Given the description of an element on the screen output the (x, y) to click on. 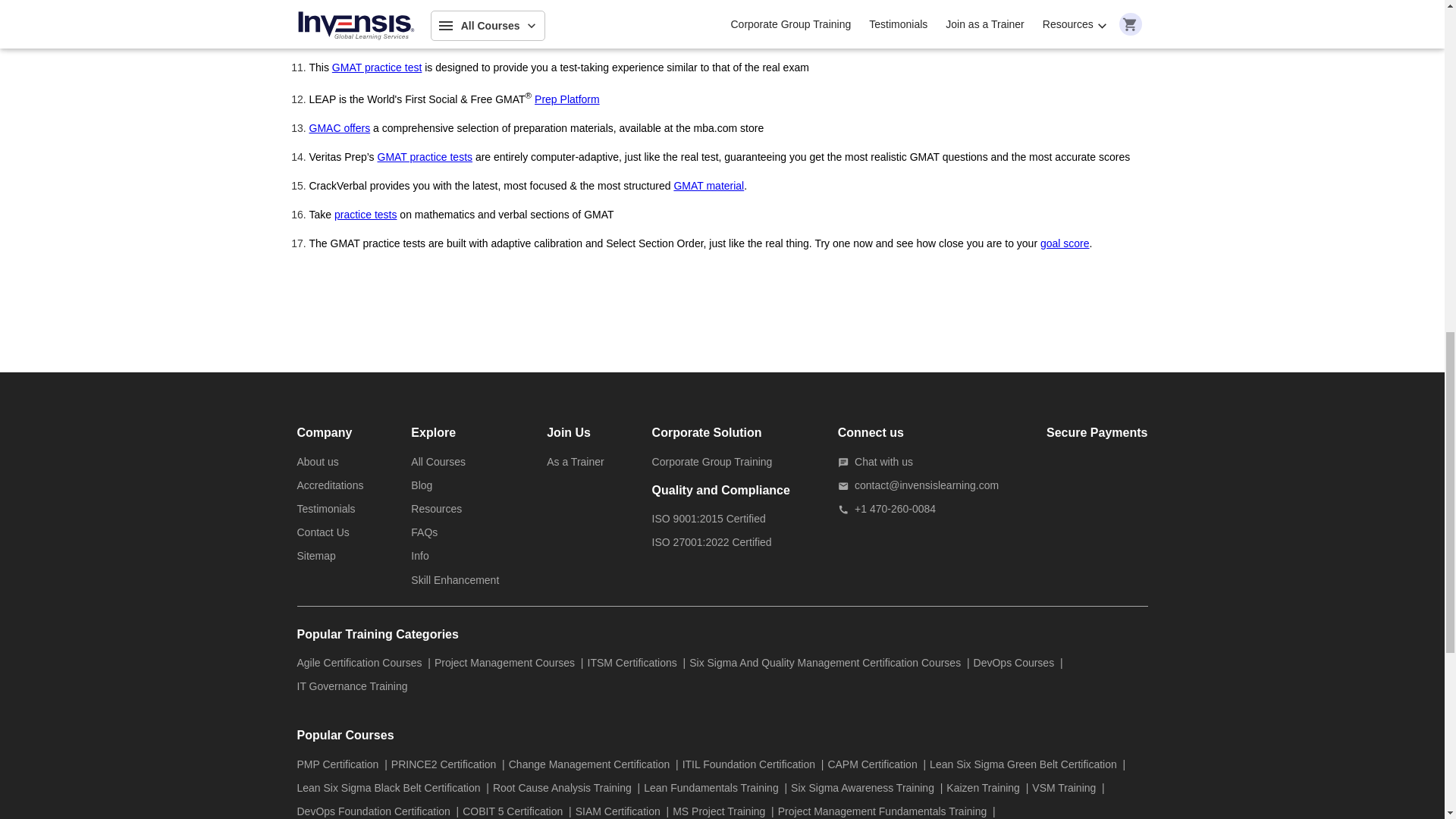
practice tests (365, 214)
Click Here to Copy undefined (579, 45)
About us (318, 461)
GMAT material (708, 185)
Click Here to View Our Customer Testimonials (326, 508)
GMAC offers (339, 128)
Babson (326, 37)
Prep Platform (566, 99)
Click Here to View Blog Articles (421, 485)
FAQs (424, 532)
